Given the description of an element on the screen output the (x, y) to click on. 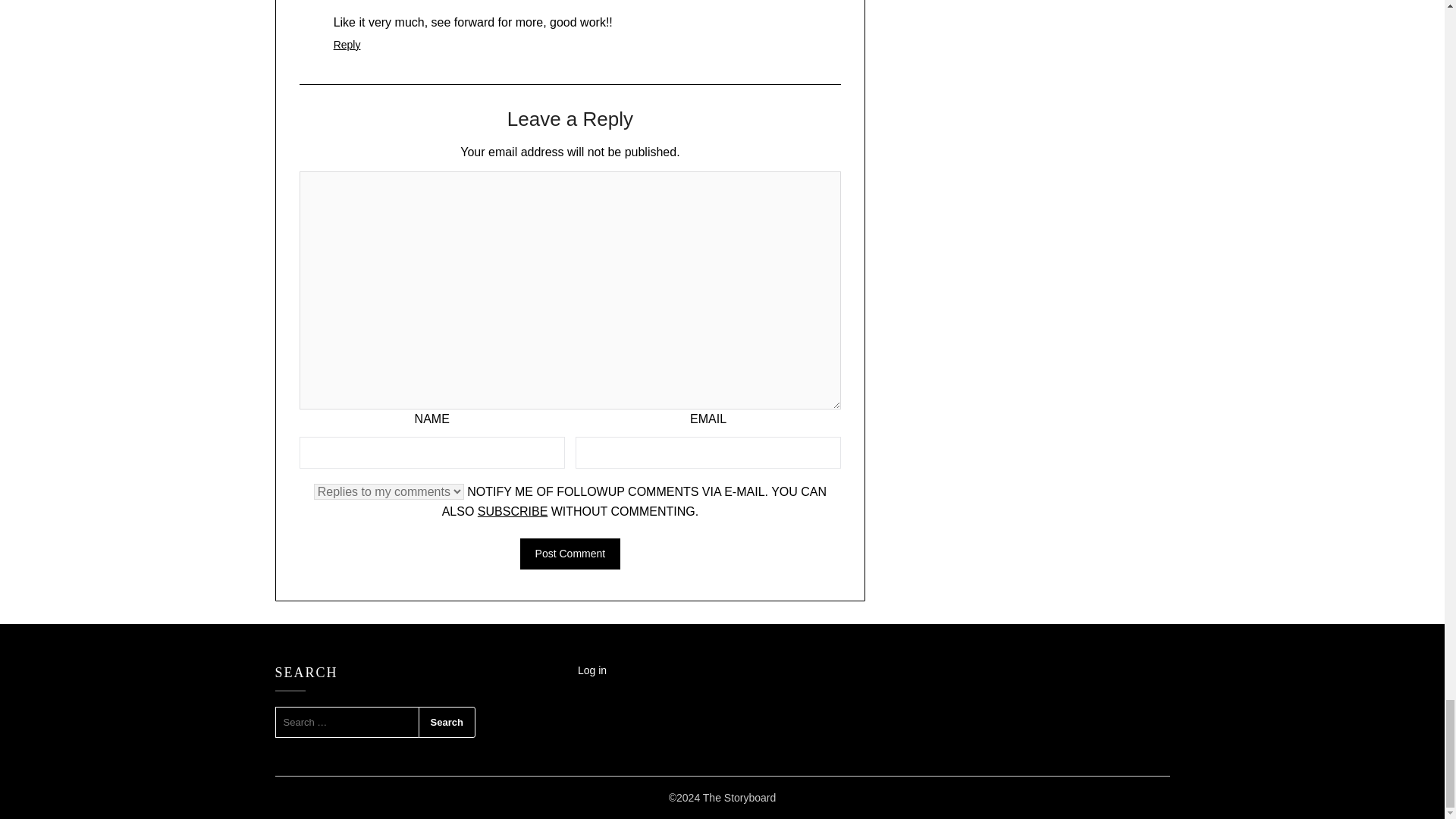
Search (447, 722)
Post Comment (570, 553)
Post Comment (570, 553)
Search (447, 722)
Reply (347, 44)
SUBSCRIBE (512, 511)
